Given the description of an element on the screen output the (x, y) to click on. 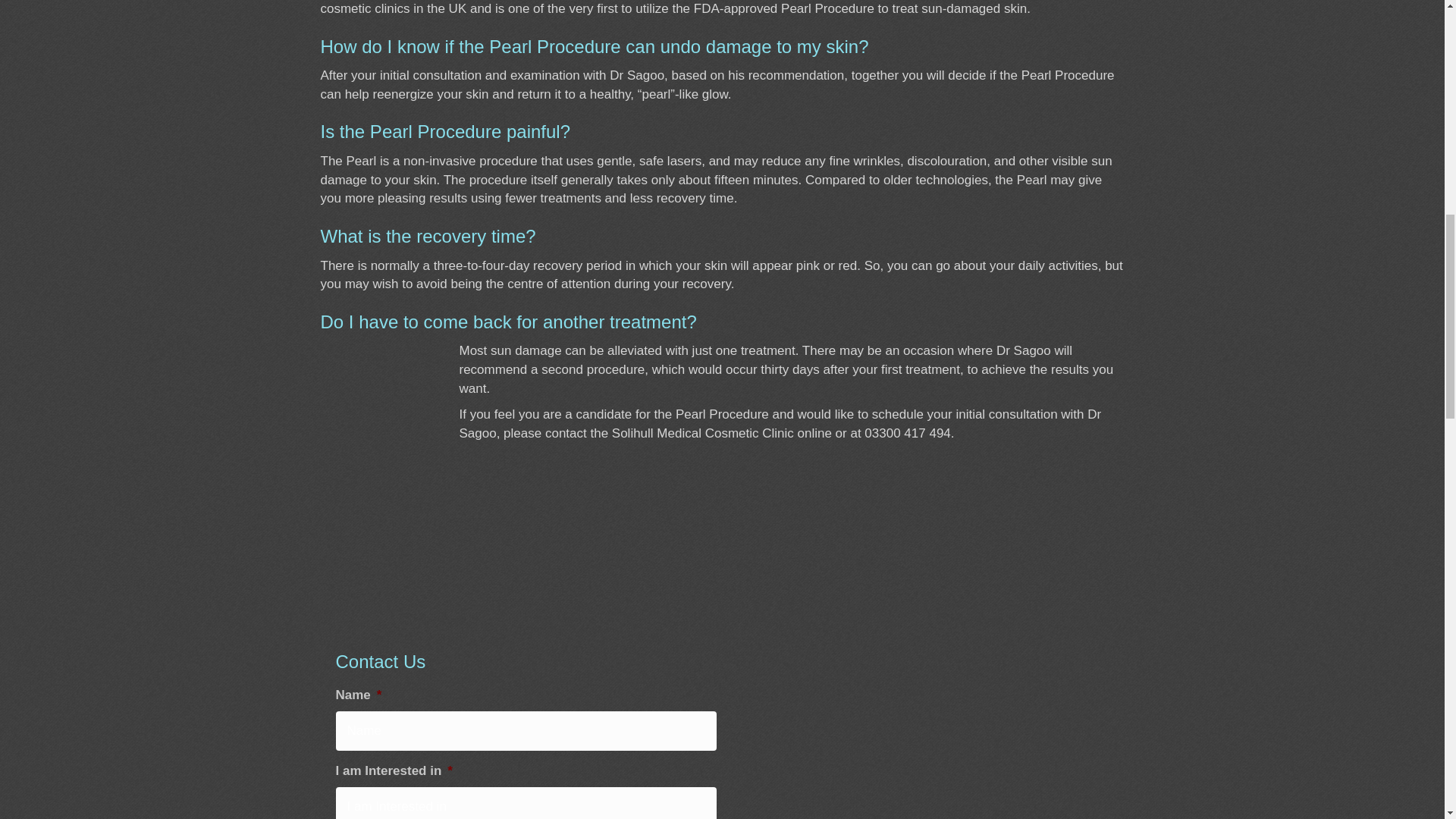
Pearl Procedure (1068, 74)
Call Us Now (907, 432)
Dr. Sagoo (1030, 350)
Contact Dr. Sagoo (814, 432)
